Given the description of an element on the screen output the (x, y) to click on. 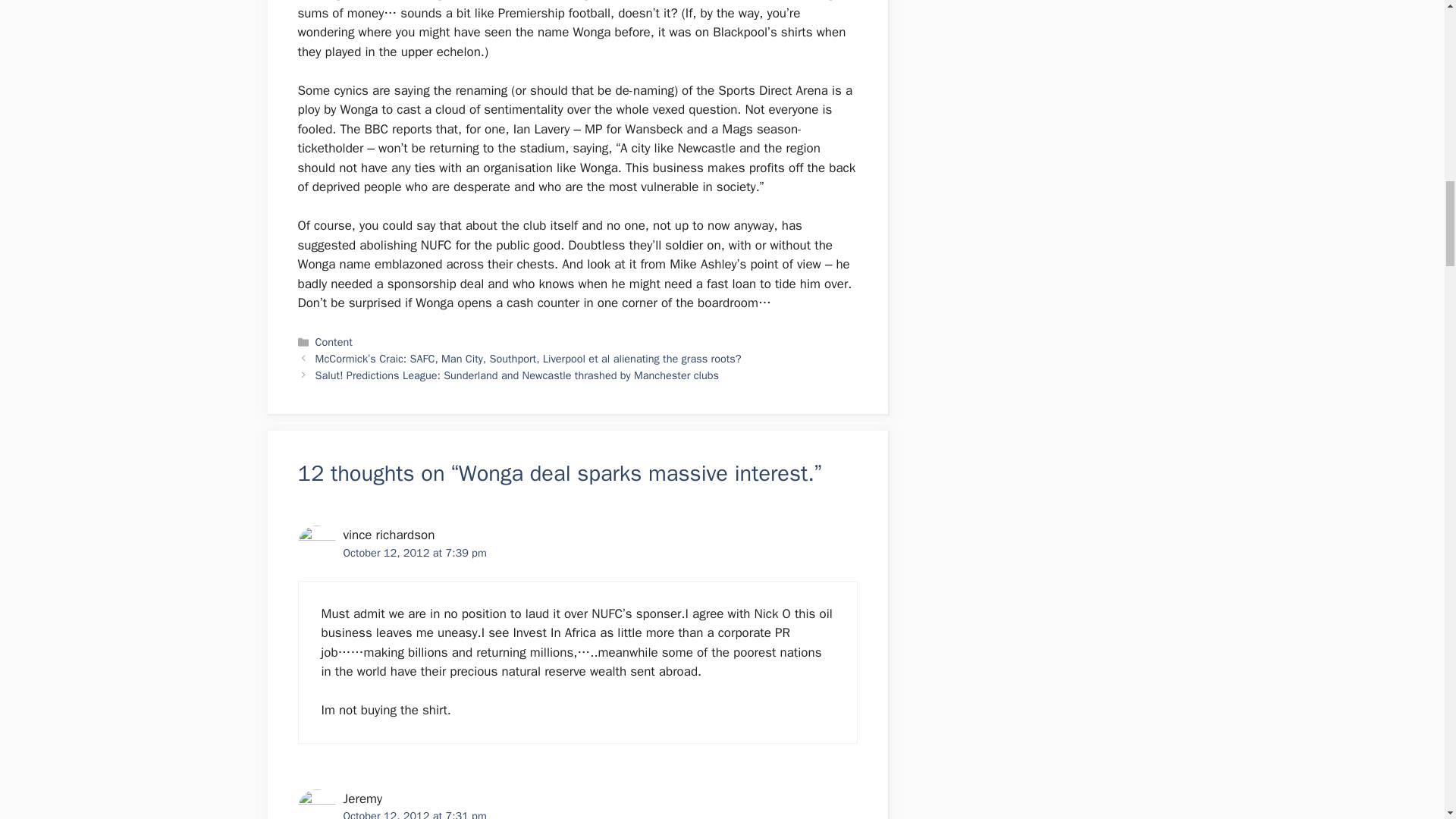
October 12, 2012 at 7:39 pm (414, 552)
Content (333, 341)
October 12, 2012 at 7:31 pm (414, 814)
